Given the description of an element on the screen output the (x, y) to click on. 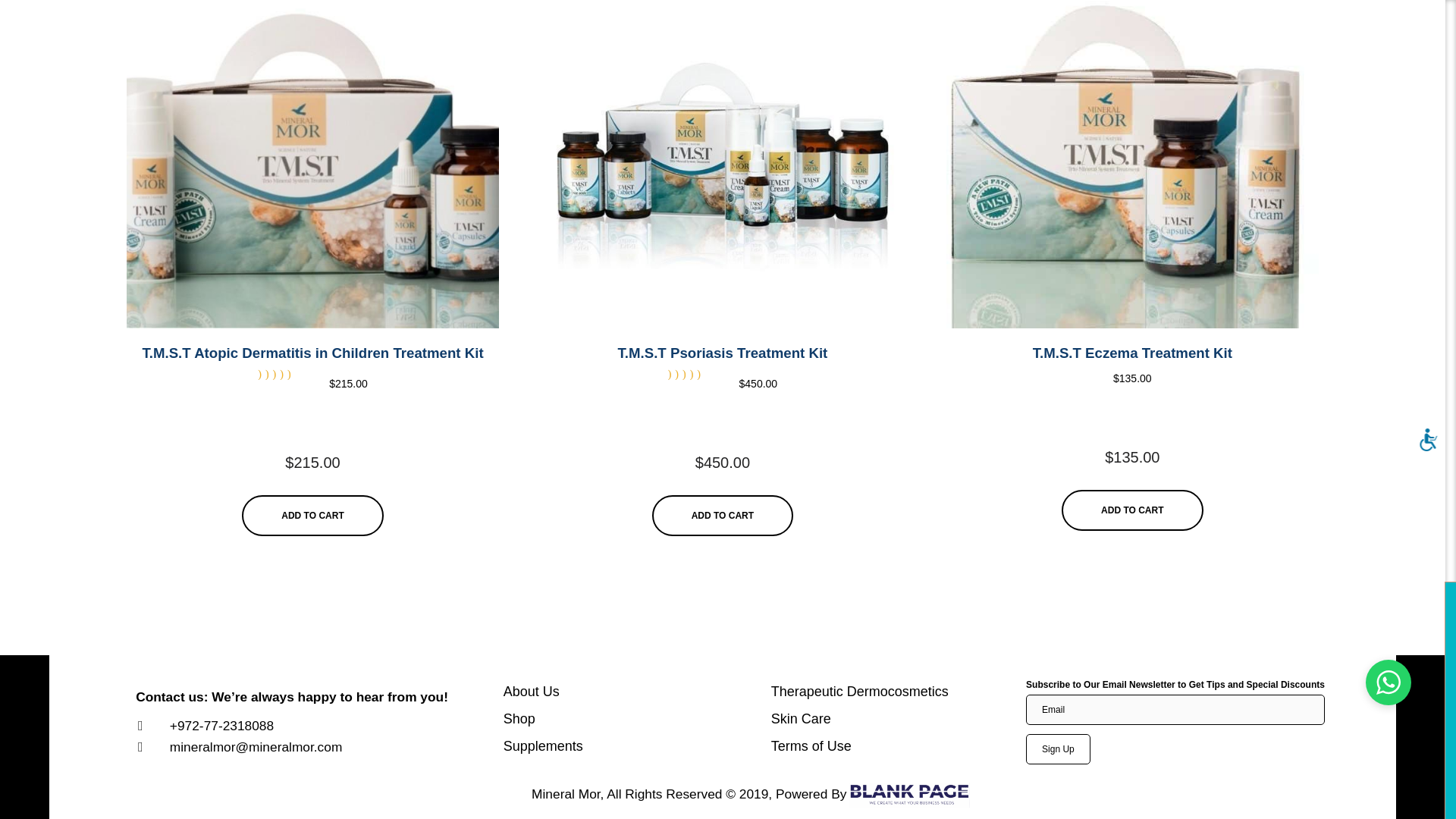
Sign Up (1058, 748)
Add to cart (722, 515)
Add to cart (1131, 510)
Add to cart (312, 515)
